Given the description of an element on the screen output the (x, y) to click on. 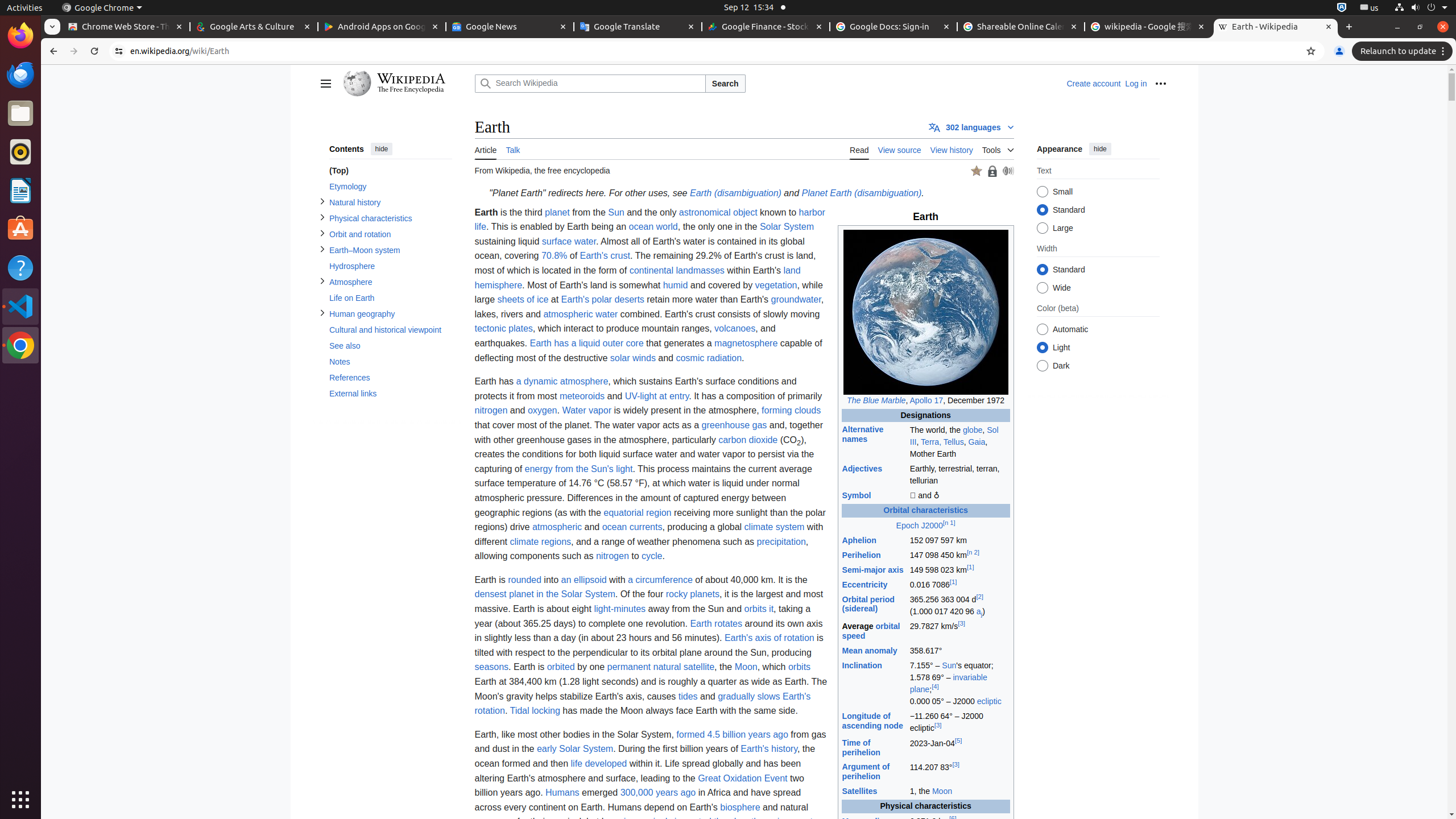
Apollo 17 Element type: link (926, 399)
Planet Earth (disambiguation) Element type: link (861, 193)
life developed Element type: link (598, 763)
Talk Element type: link (512, 148)
biosphere Element type: link (740, 806)
